Given the description of an element on the screen output the (x, y) to click on. 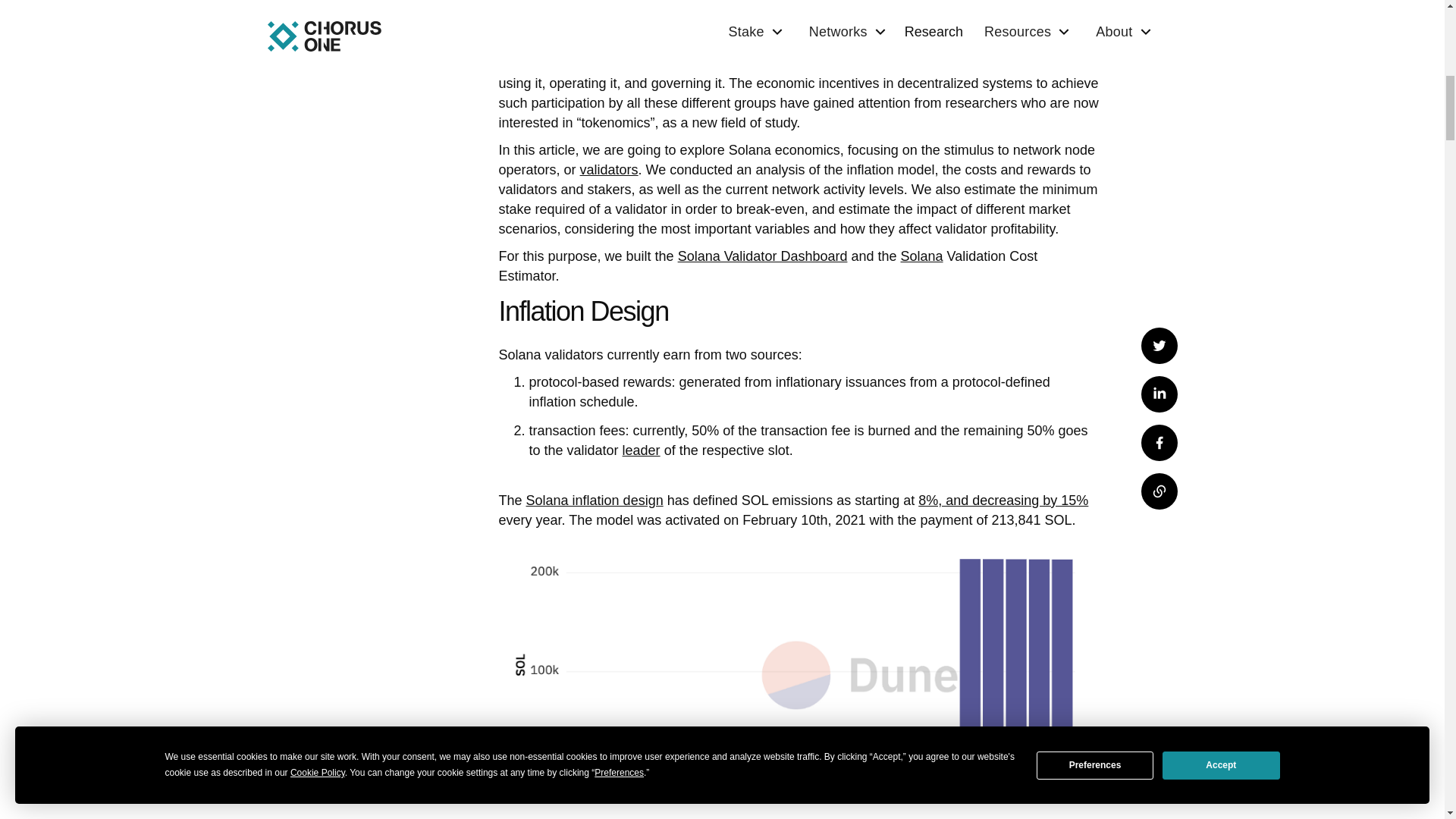
Share on Facebook (1158, 149)
Share on LinkedIn (1158, 100)
Tweet (1158, 52)
